Given the description of an element on the screen output the (x, y) to click on. 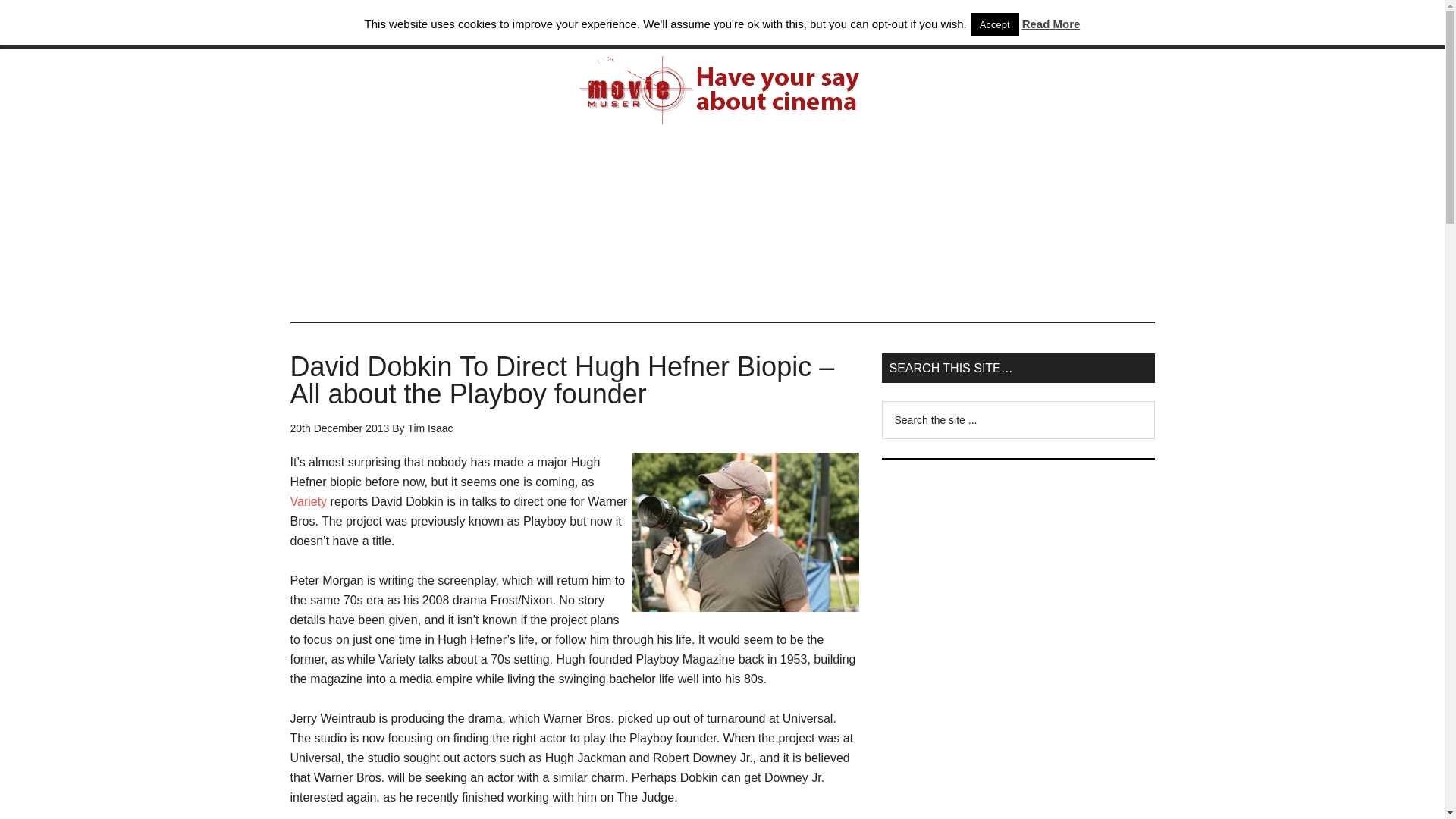
3rd party ad content (1017, 747)
MOVIE NEWS (404, 24)
HOME (320, 24)
FEATURES (818, 24)
3rd party ad content (1017, 573)
MOVIE TRAILERS (516, 24)
Variety (309, 501)
